Given the description of an element on the screen output the (x, y) to click on. 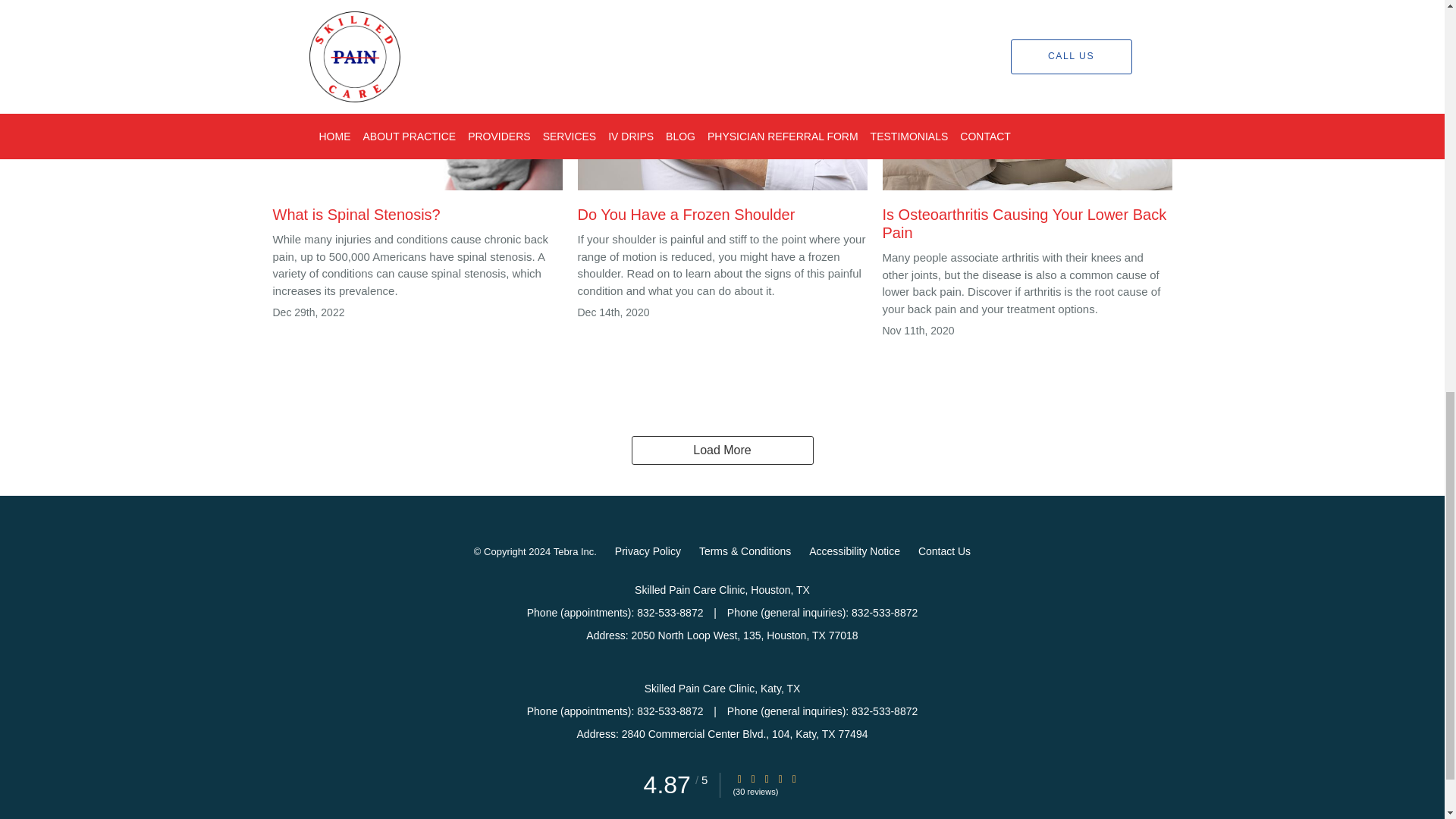
Star Rating (753, 778)
Star Rating (780, 778)
Star Rating (794, 778)
Do You Have a Frozen Shoulder (722, 124)
Star Rating (738, 778)
What is Spinal Stenosis? (417, 124)
Is Osteoarthritis Causing Your Lower Back Pain (1027, 133)
Star Rating (766, 778)
